Given the description of an element on the screen output the (x, y) to click on. 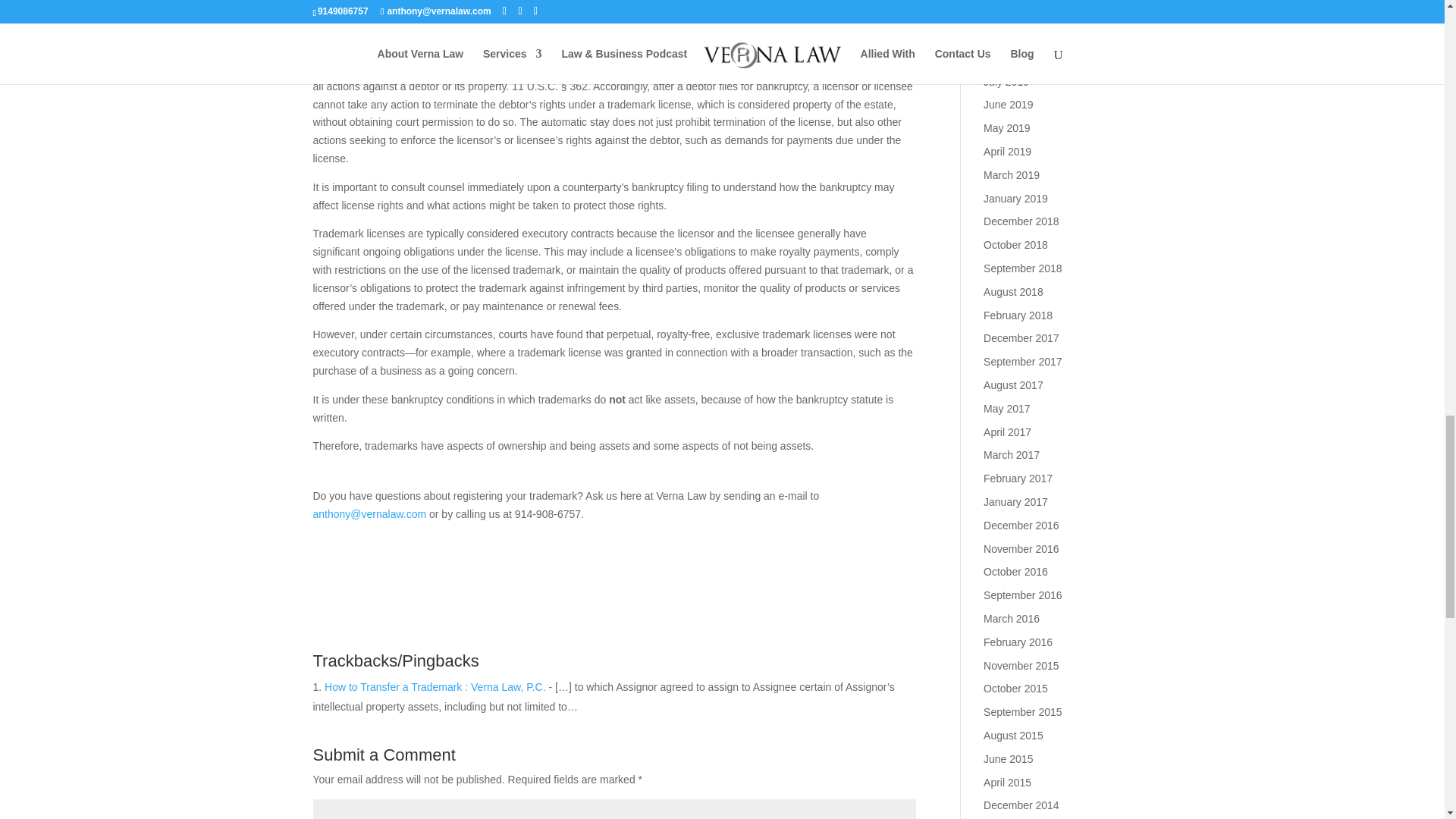
How to Transfer a Trademark : Verna Law, P.C. (435, 686)
